Given the description of an element on the screen output the (x, y) to click on. 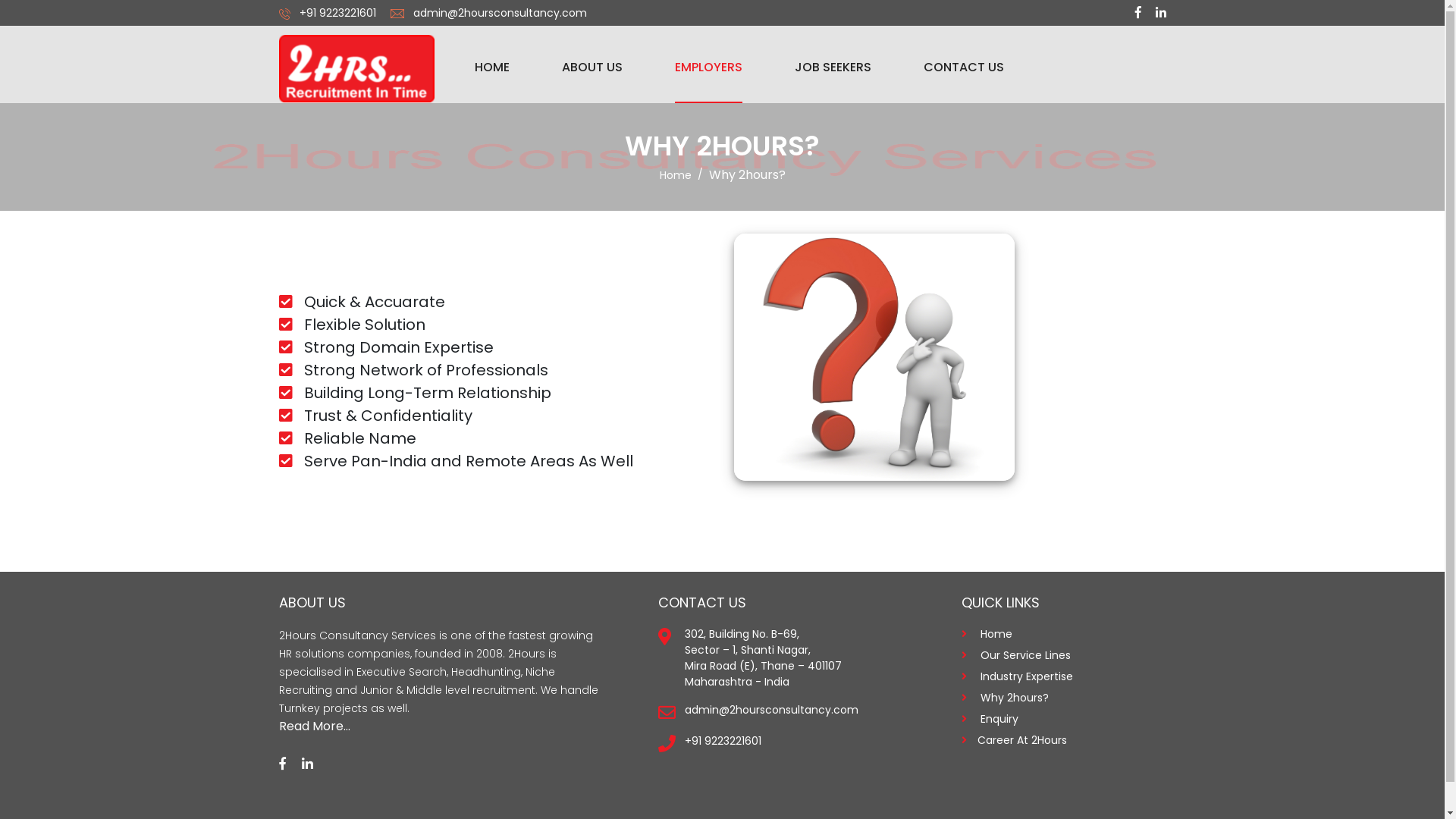
JOB SEEKERS Element type: text (832, 64)
ABOUT US Element type: text (591, 64)
Home Element type: text (993, 633)
Why 2hours? Element type: text (1012, 697)
CONTACT US Element type: text (963, 64)
Our Service Lines Element type: text (1023, 654)
Enquiry Element type: text (996, 718)
Industry Expertise Element type: text (1024, 676)
+91 9223221601 Element type: text (336, 12)
admin@2hoursconsultancy.com Element type: text (770, 709)
EMPLOYERS Element type: text (708, 64)
Career At 2Hours Element type: text (1021, 739)
Home Element type: text (675, 174)
Read More... Element type: text (314, 725)
+91 9223221601 Element type: text (722, 740)
admin@2hoursconsultancy.com Element type: text (499, 12)
HOME Element type: text (491, 64)
